Given the description of an element on the screen output the (x, y) to click on. 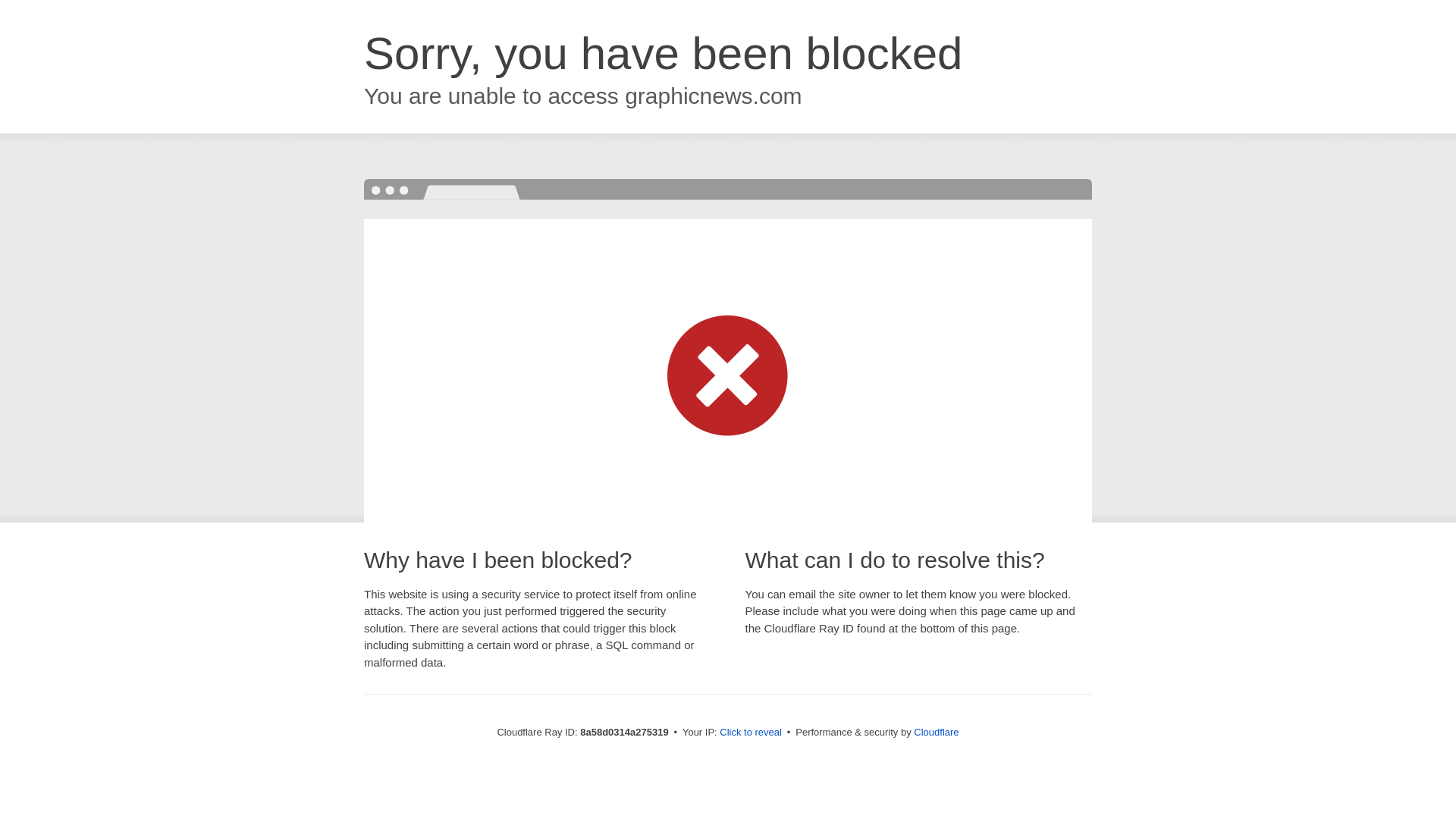
Click to reveal (750, 732)
Cloudflare (936, 731)
